Given the description of an element on the screen output the (x, y) to click on. 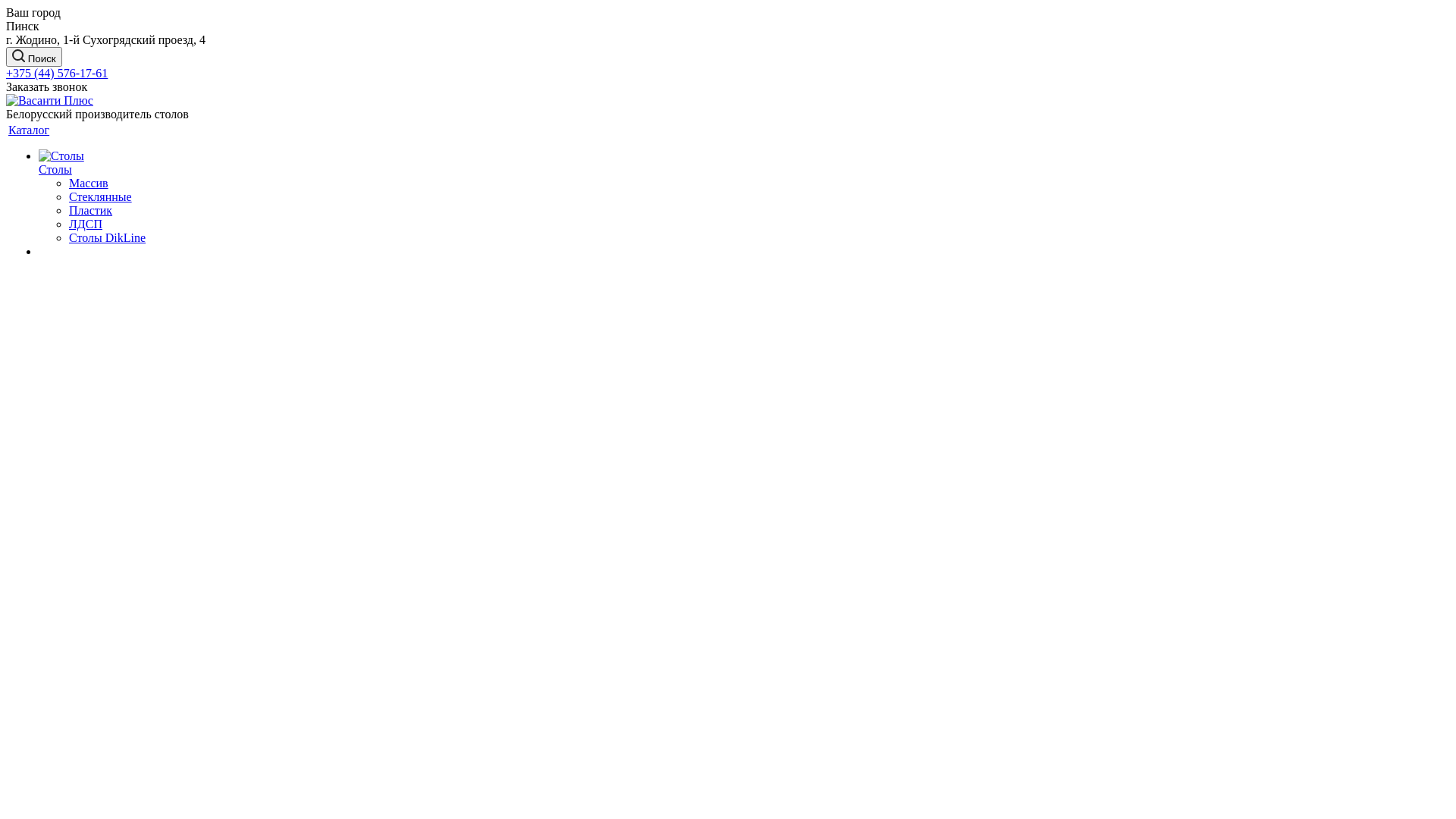
+375 (44) 576-17-61 Element type: text (56, 72)
